Given the description of an element on the screen output the (x, y) to click on. 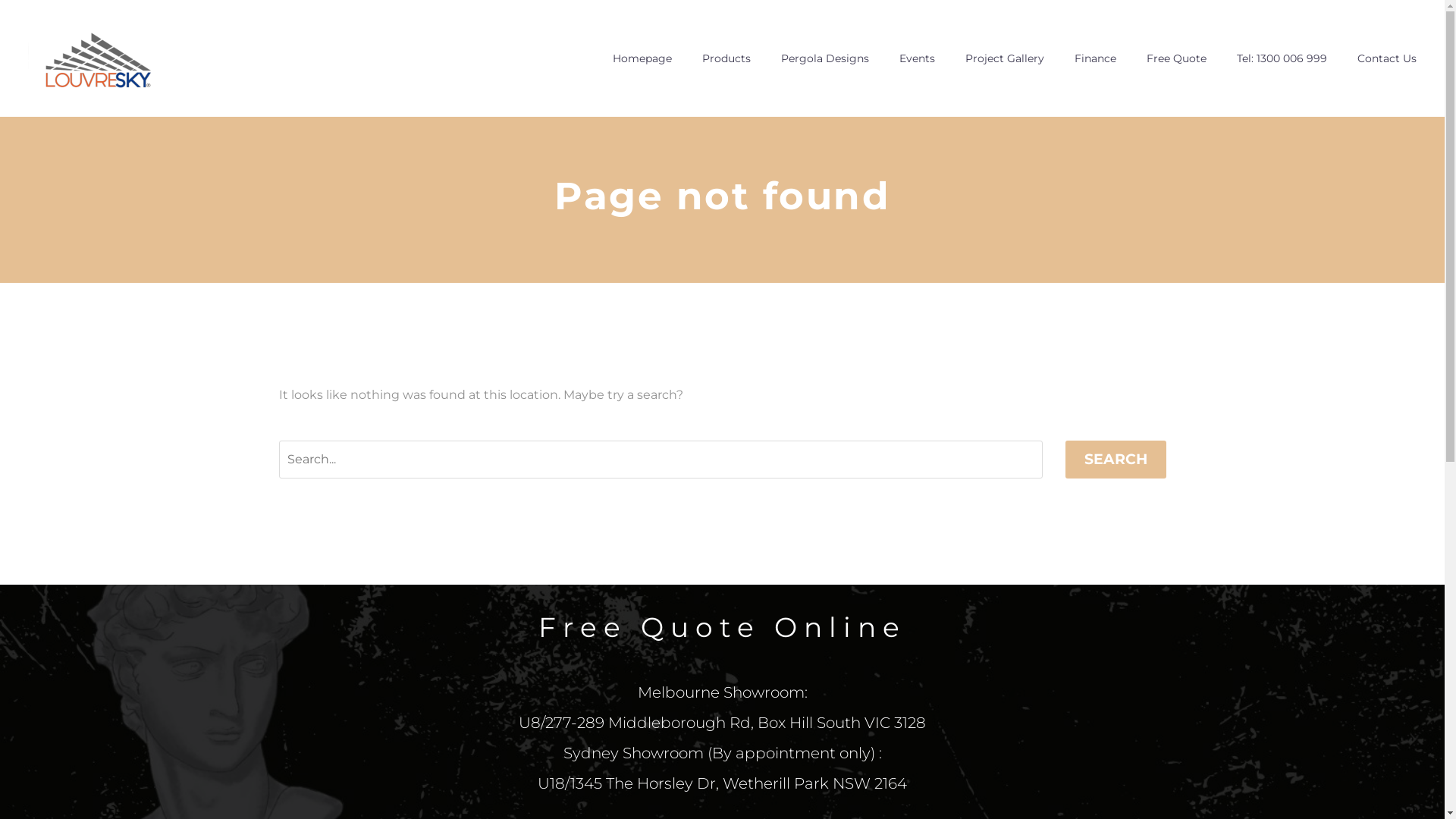
Project Gallery Element type: text (1004, 58)
SEARCH Element type: text (1114, 459)
Finance Element type: text (1095, 58)
Tel: 1300 006 999 Element type: text (1281, 58)
Pergola Designs Element type: text (824, 58)
Free Quote Element type: text (1176, 58)
Homepage Element type: text (642, 58)
Contact Us Element type: text (1386, 58)
Events Element type: text (917, 58)
Products Element type: text (726, 58)
